Given the description of an element on the screen output the (x, y) to click on. 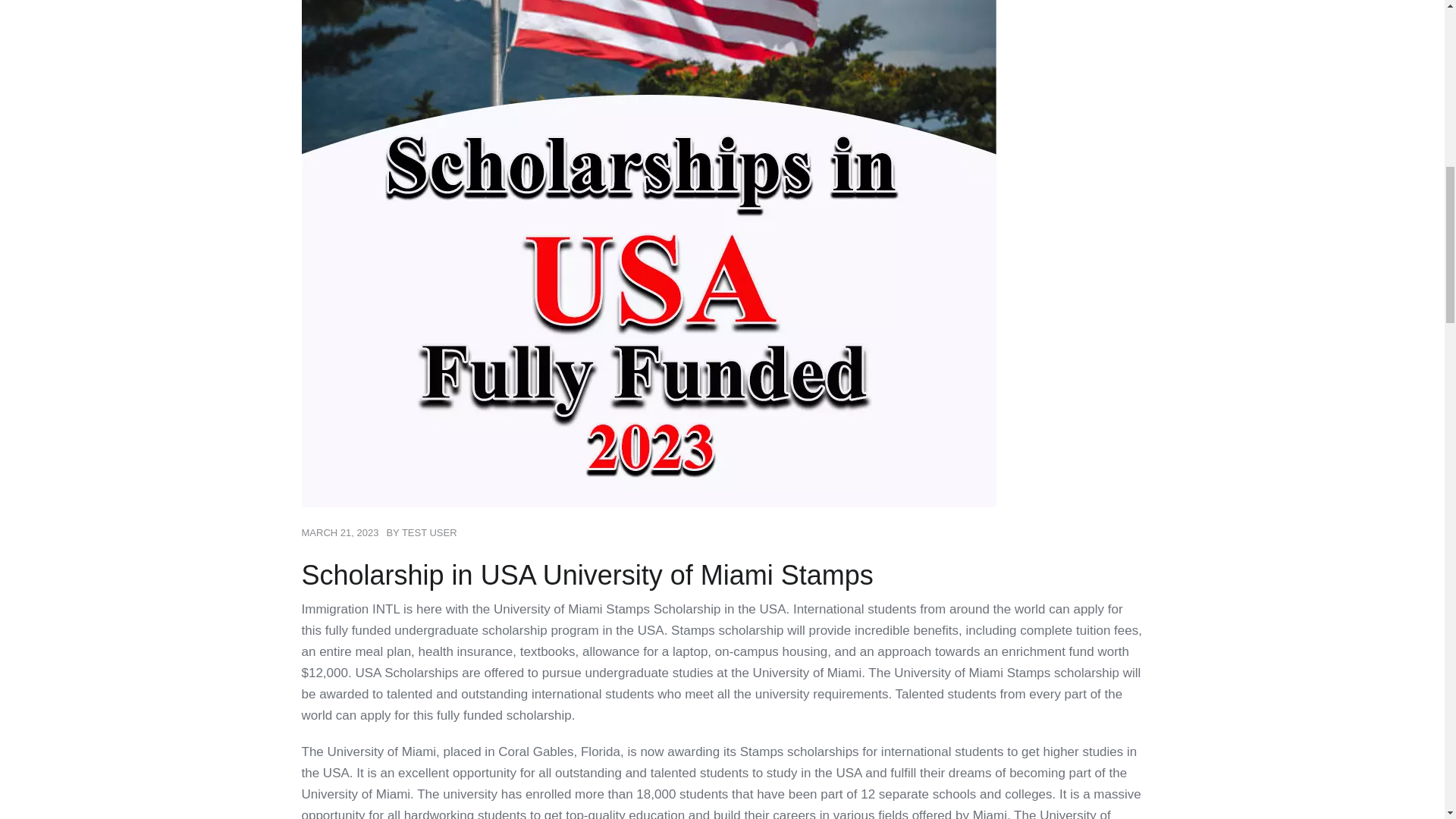
TEST USER (429, 532)
